Given the description of an element on the screen output the (x, y) to click on. 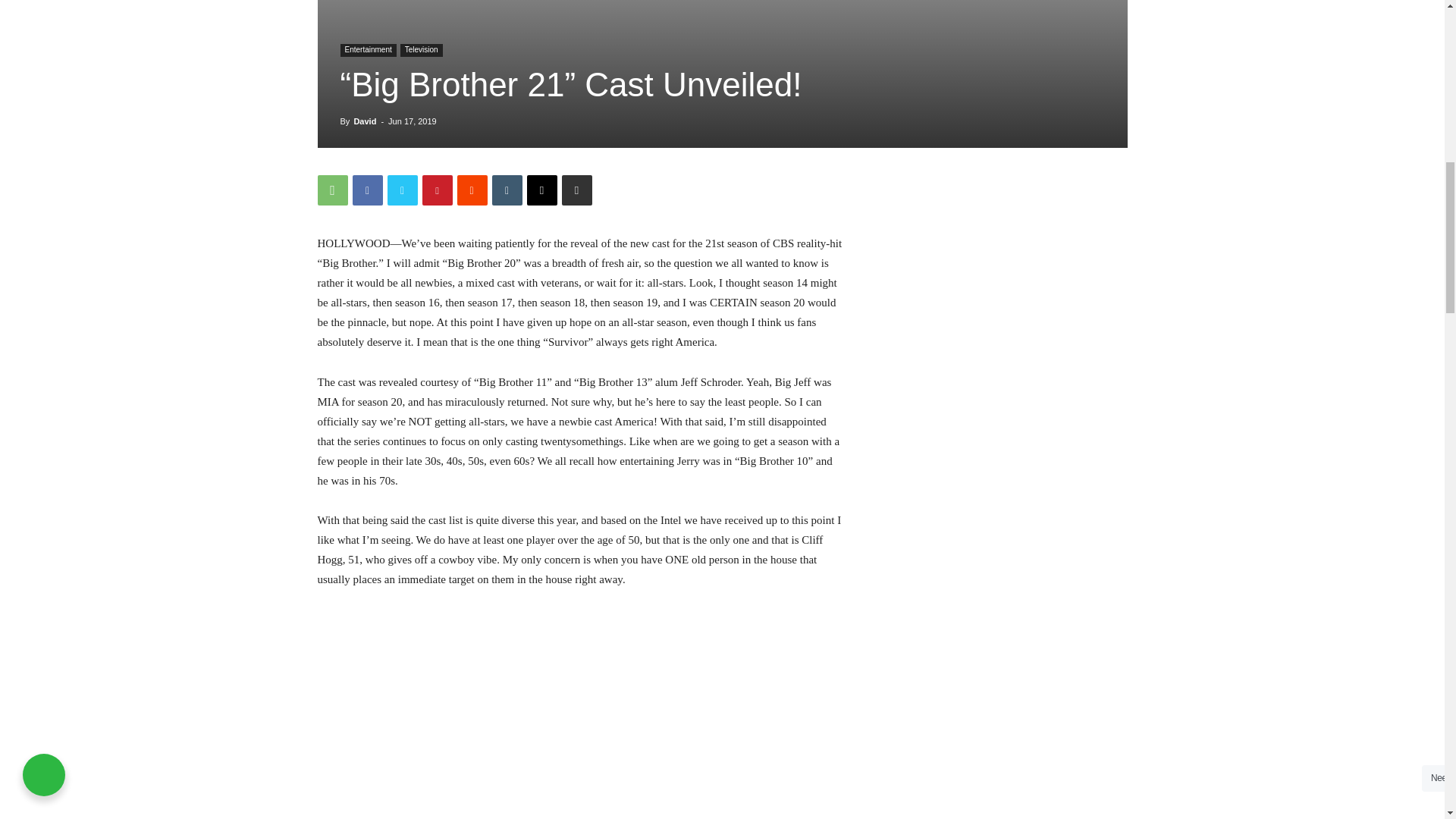
Print (575, 190)
Email (540, 190)
Big Brother (721, 74)
WhatsApp (332, 190)
Tumblr (506, 190)
Twitter (401, 190)
ReddIt (471, 190)
Facebook (366, 190)
Pinterest (436, 190)
